Given the description of an element on the screen output the (x, y) to click on. 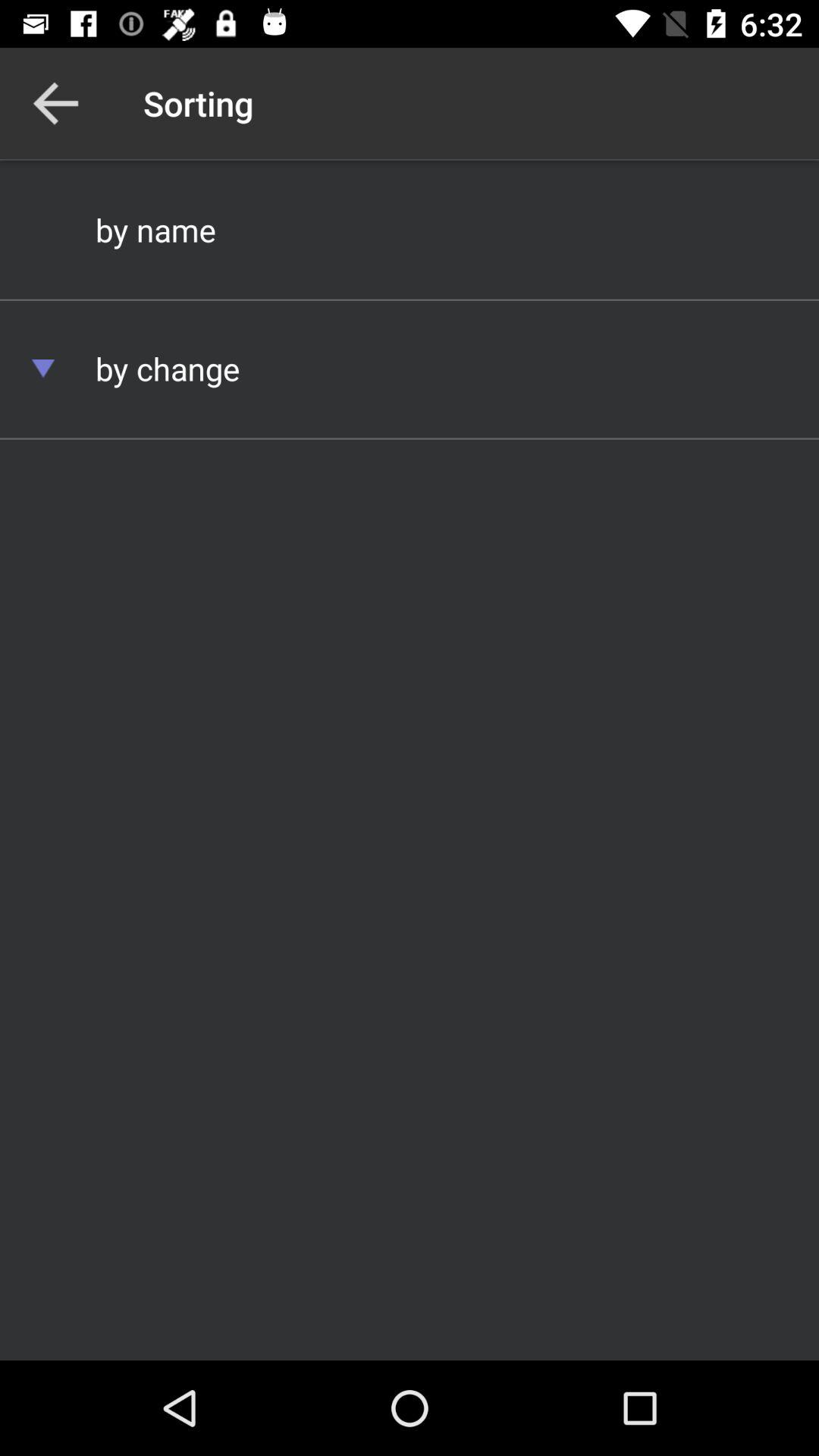
click item next to the sorting icon (55, 103)
